Given the description of an element on the screen output the (x, y) to click on. 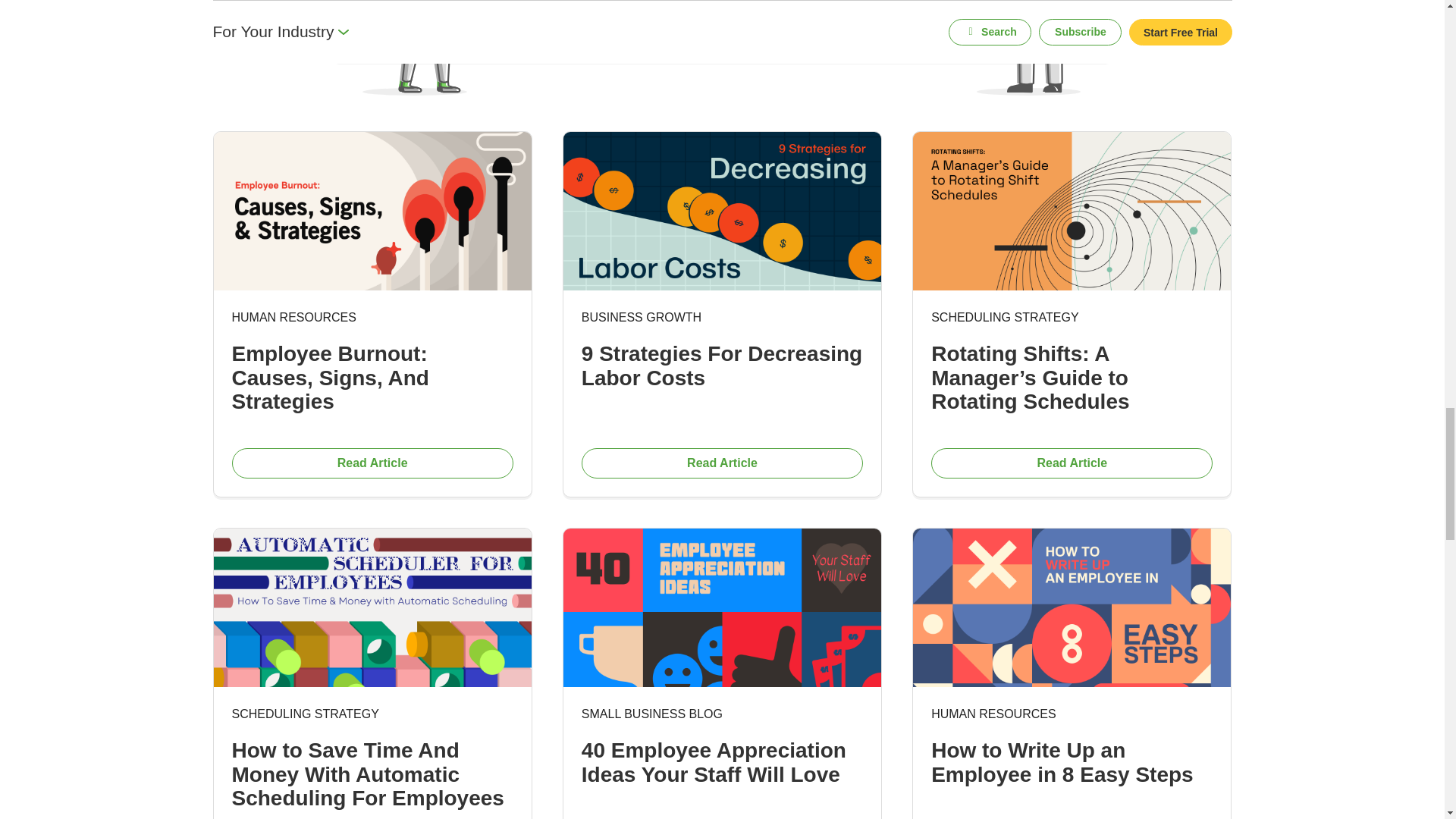
Submit Email (891, 6)
Email Address (703, 6)
